Given the description of an element on the screen output the (x, y) to click on. 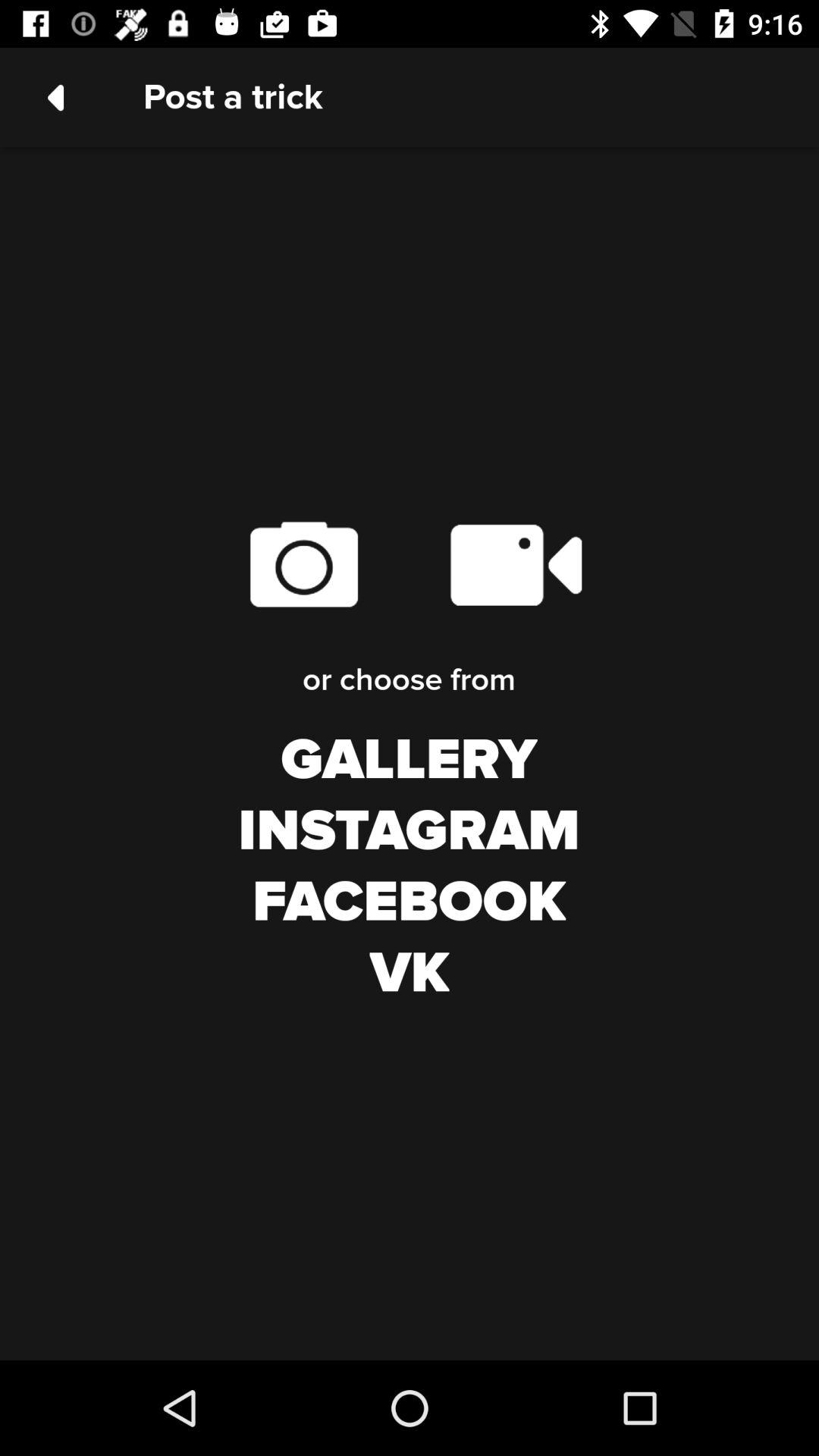
chooses video from phone (515, 564)
